Given the description of an element on the screen output the (x, y) to click on. 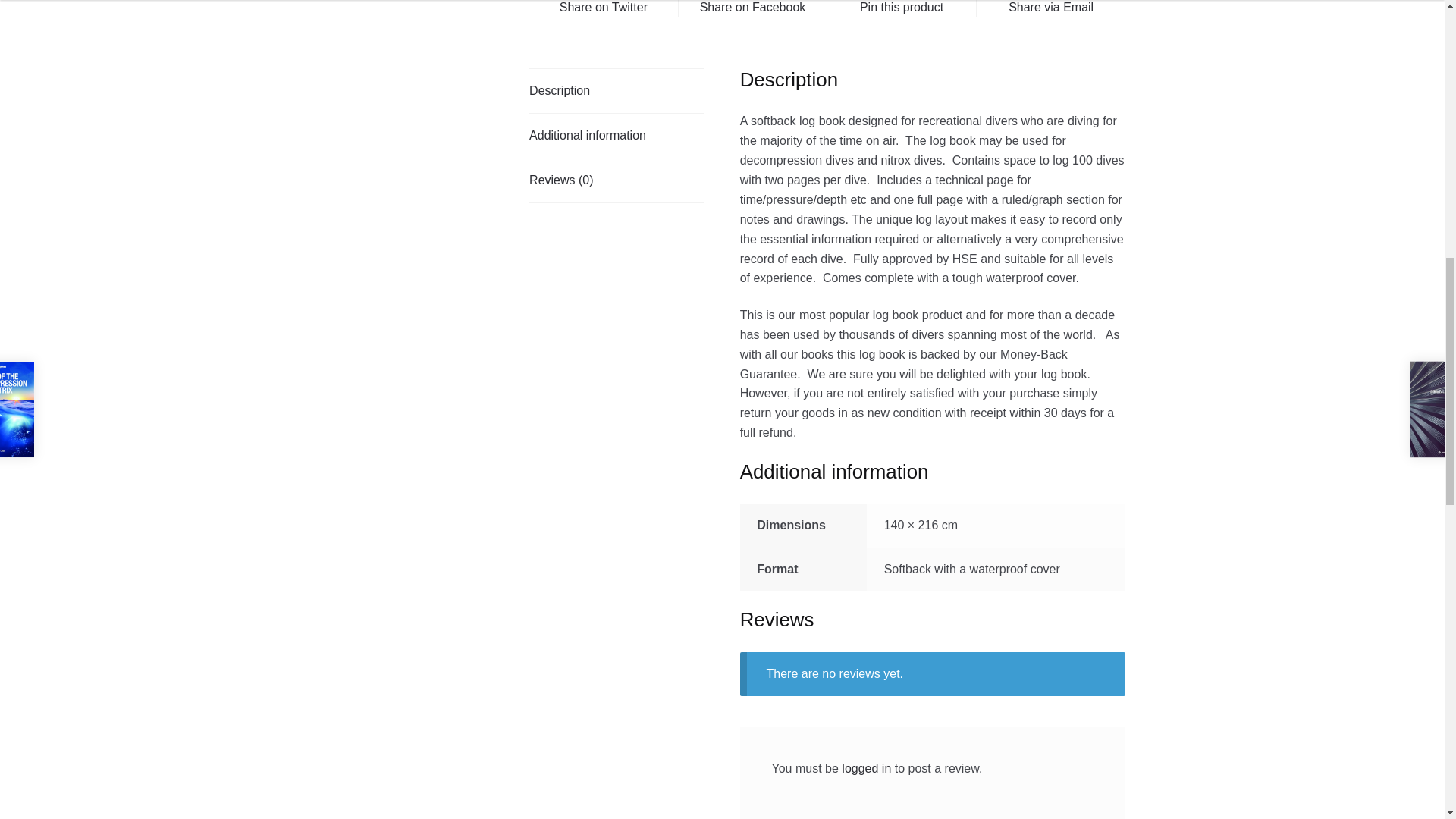
Additional information (616, 135)
Pin this product (901, 8)
Share via Email (1050, 8)
logged in (866, 768)
Share on Twitter (603, 8)
Description (616, 90)
Share on Facebook (752, 8)
